Given the description of an element on the screen output the (x, y) to click on. 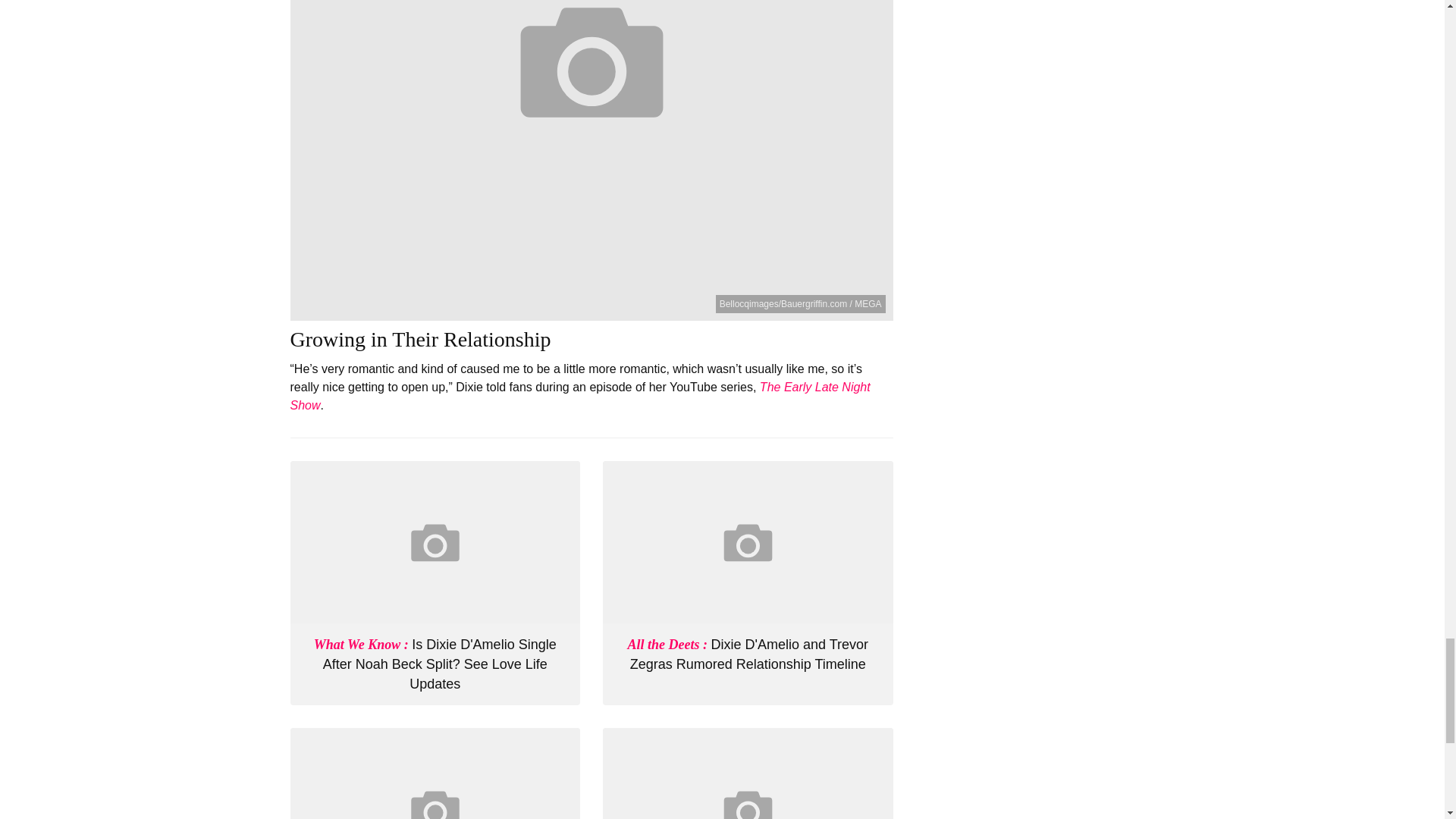
The Early Late Night Show (579, 395)
